Given the description of an element on the screen output the (x, y) to click on. 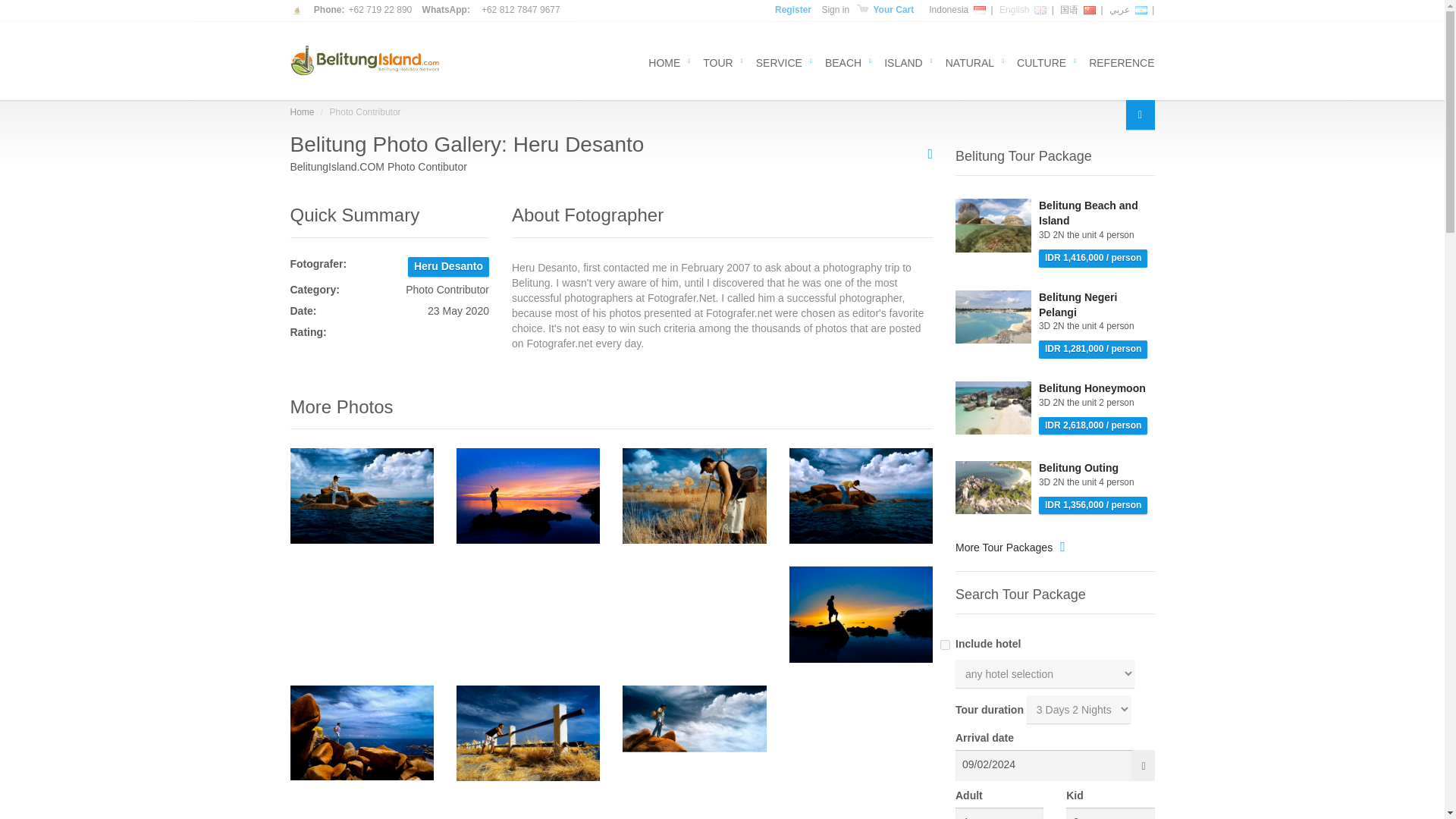
Belitung Outing (992, 488)
Register (793, 9)
belitung island (365, 60)
English   (1022, 9)
4 (999, 813)
Indonesia   (956, 9)
0 (1109, 813)
Belitung Honeymoon (992, 407)
Sign in (834, 9)
Belitung Beach and Island (992, 225)
